Given the description of an element on the screen output the (x, y) to click on. 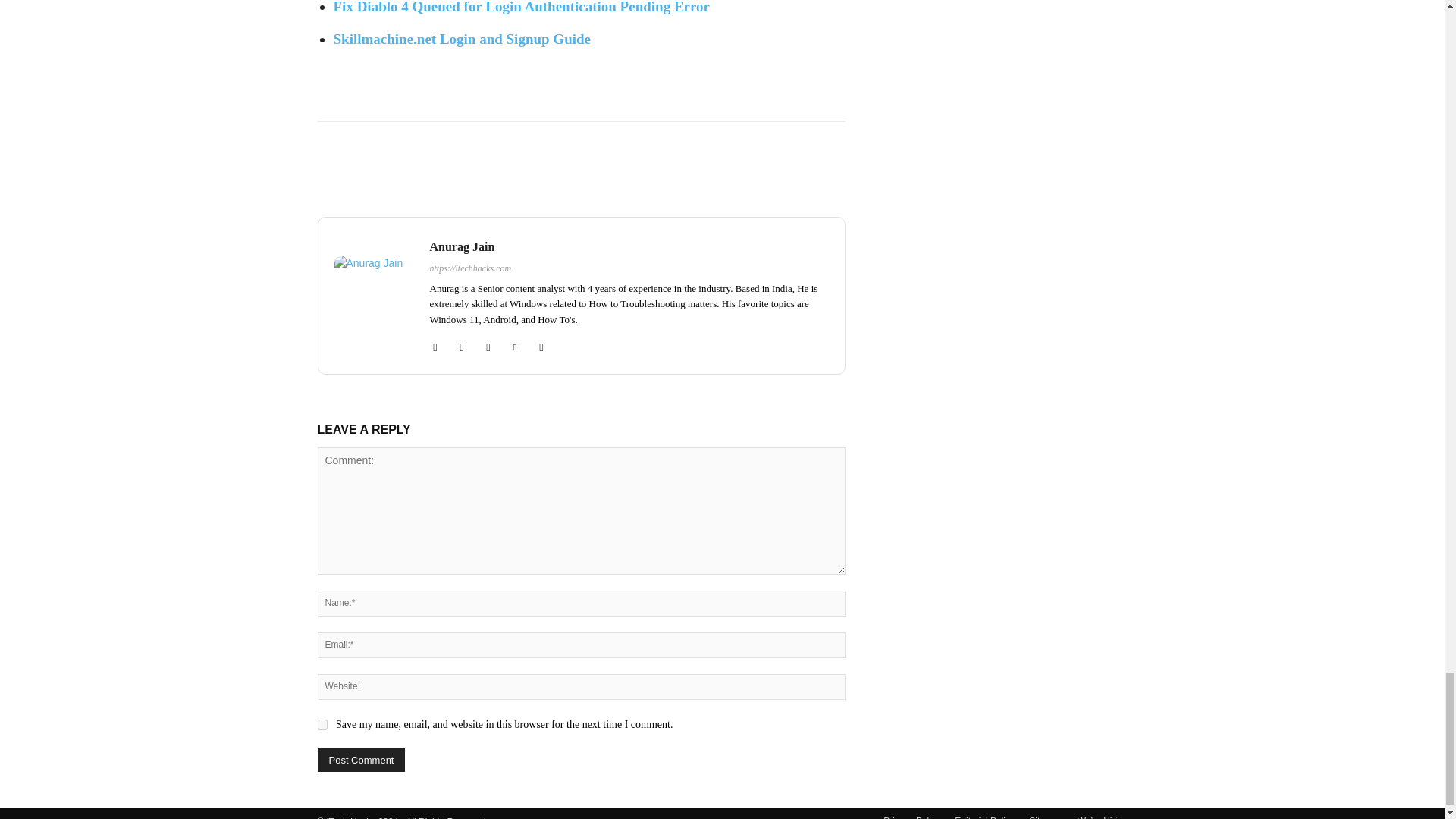
yes (321, 724)
Post Comment (360, 760)
